Given the description of an element on the screen output the (x, y) to click on. 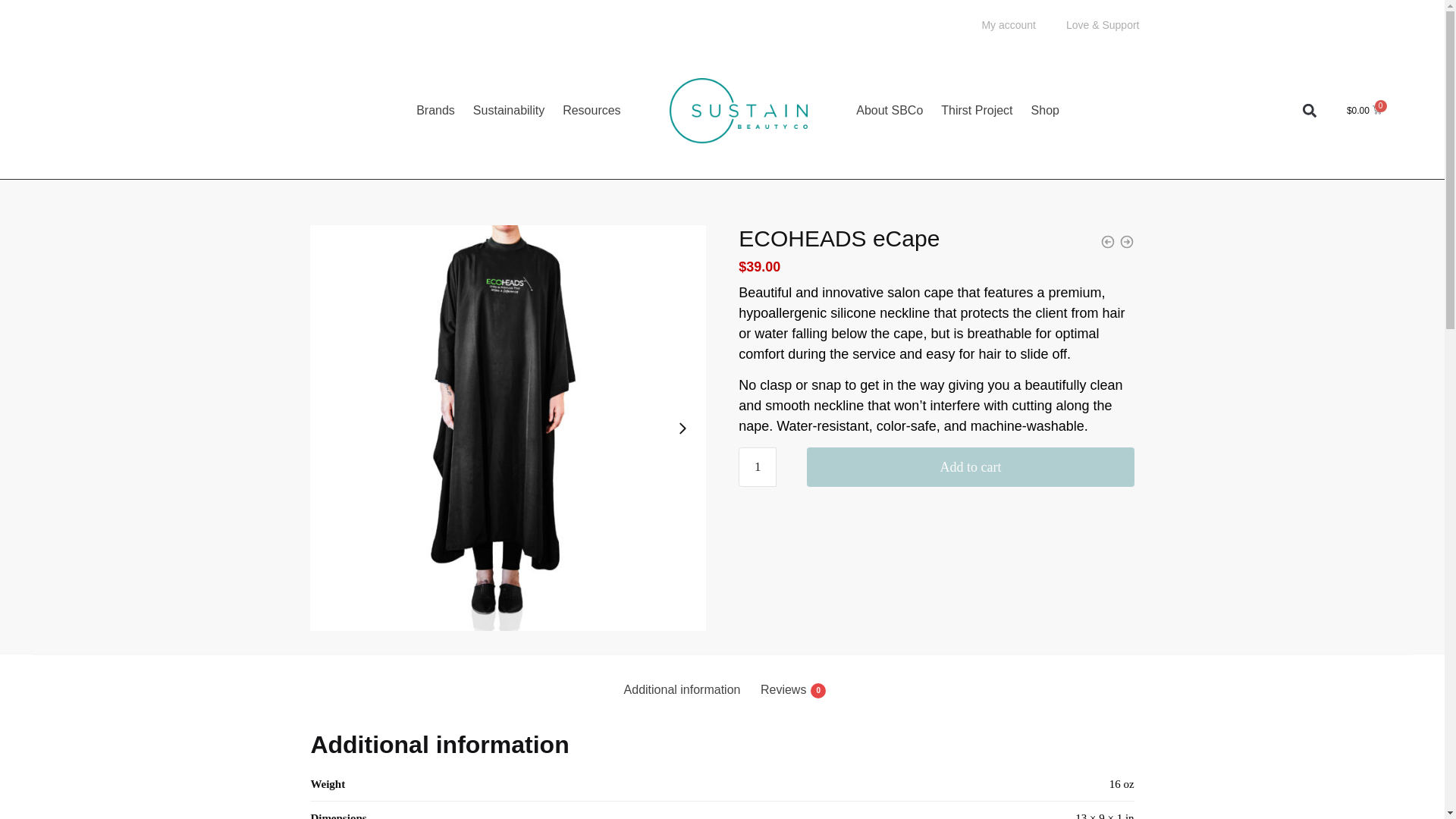
1 (757, 466)
My account (1008, 24)
